Given the description of an element on the screen output the (x, y) to click on. 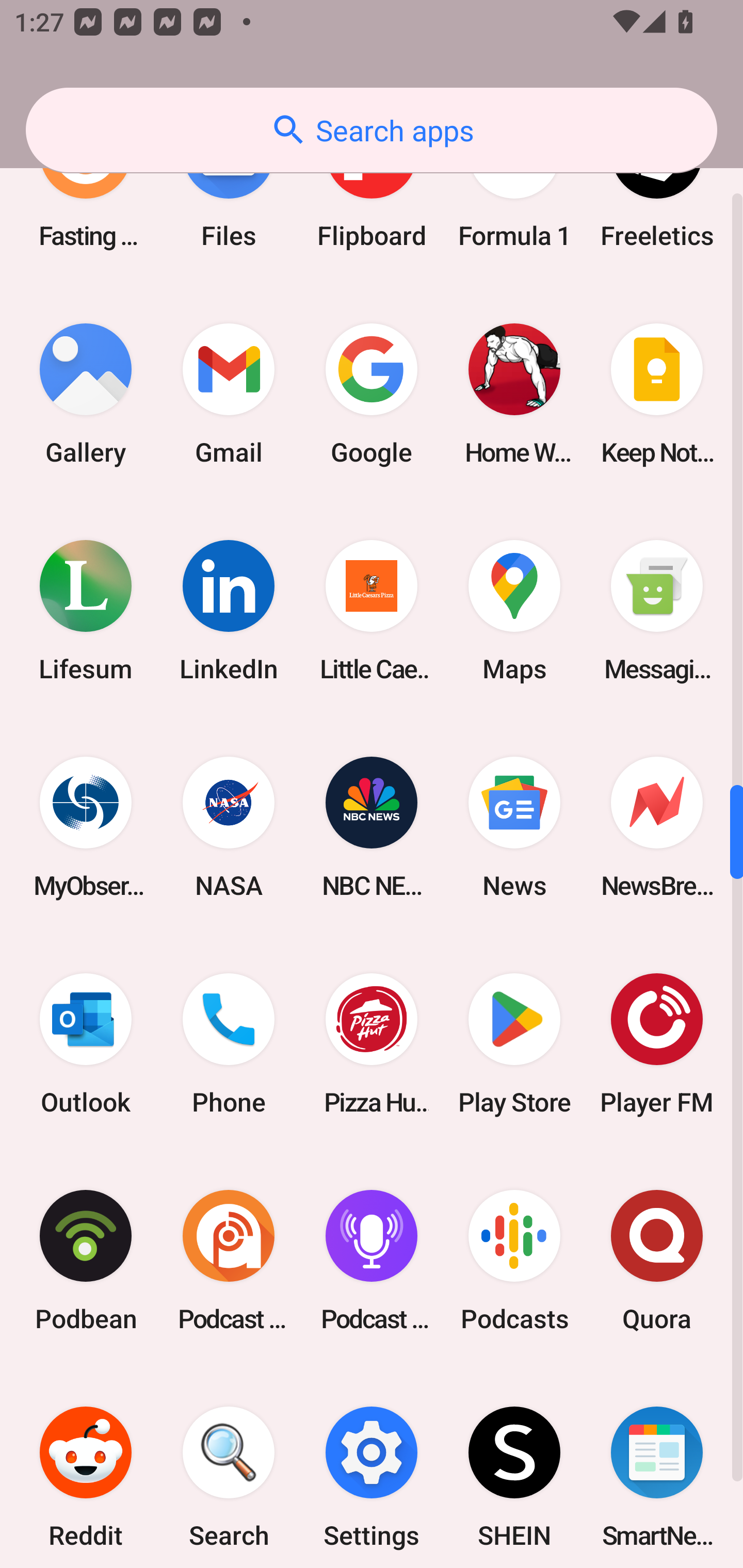
  Search apps (371, 130)
Gallery (85, 393)
Gmail (228, 393)
Google (371, 393)
Home Workout (514, 393)
Keep Notes (656, 393)
Lifesum (85, 610)
LinkedIn (228, 610)
Little Caesars Pizza (371, 610)
Maps (514, 610)
Messaging (656, 610)
MyObservatory (85, 827)
NASA (228, 827)
NBC NEWS (371, 827)
News (514, 827)
NewsBreak (656, 827)
Outlook (85, 1044)
Phone (228, 1044)
Pizza Hut HK & Macau (371, 1044)
Play Store (514, 1044)
Player FM (656, 1044)
Podbean (85, 1260)
Podcast Addict (228, 1260)
Podcast Player (371, 1260)
Podcasts (514, 1260)
Quora (656, 1260)
Reddit (85, 1468)
Search (228, 1468)
Settings (371, 1468)
SHEIN (514, 1468)
SmartNews (656, 1468)
